Given the description of an element on the screen output the (x, y) to click on. 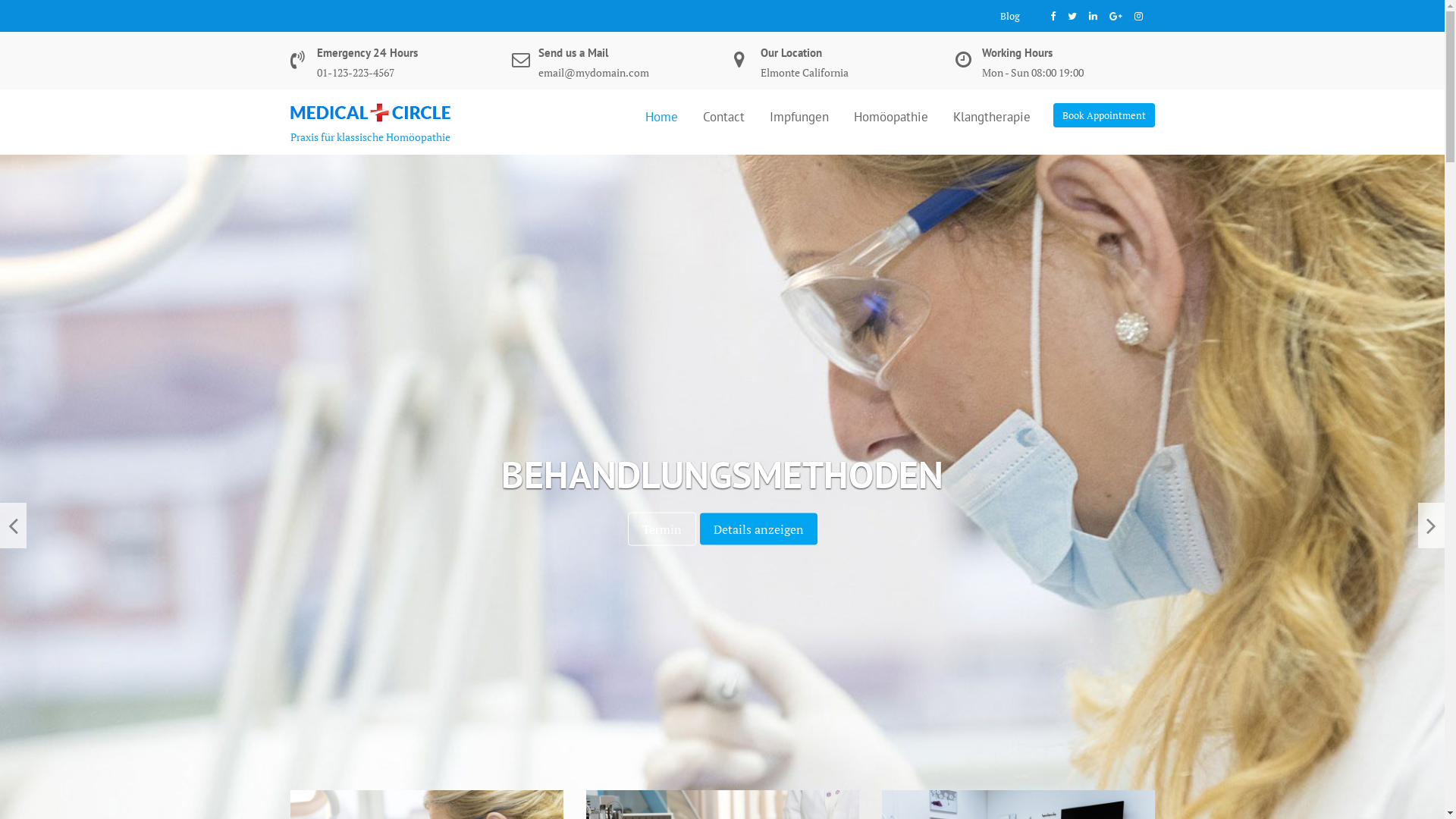
Impfungen Element type: text (799, 115)
Klangtherapie Element type: text (991, 115)
Termin Element type: text (658, 528)
Blog Element type: text (1009, 15)
Details anzeigen Element type: text (763, 528)
Contact Element type: text (723, 115)
Book Appointment Element type: text (1103, 115)
Home Element type: text (661, 115)
